Given the description of an element on the screen output the (x, y) to click on. 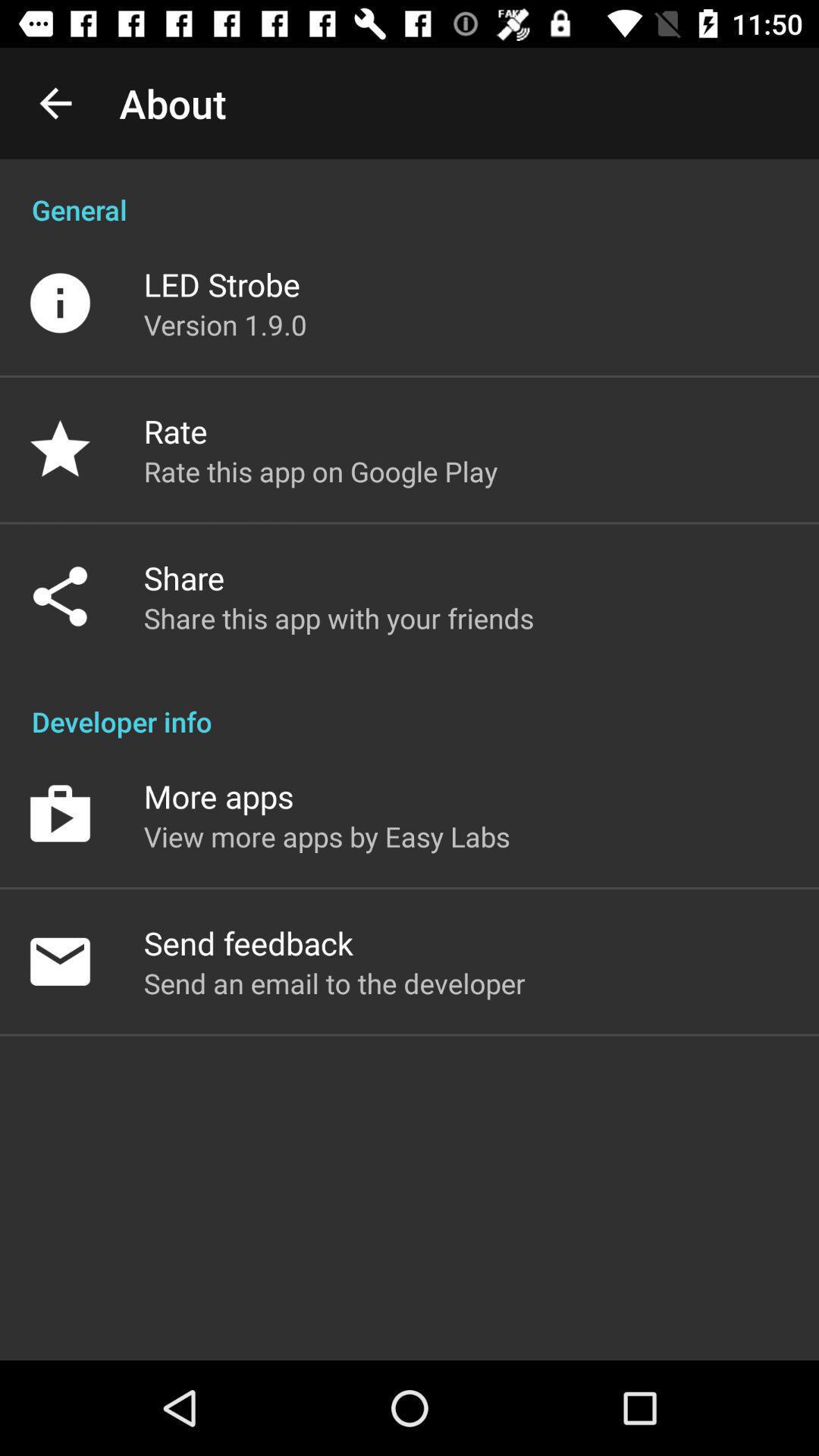
flip to the general item (409, 193)
